Given the description of an element on the screen output the (x, y) to click on. 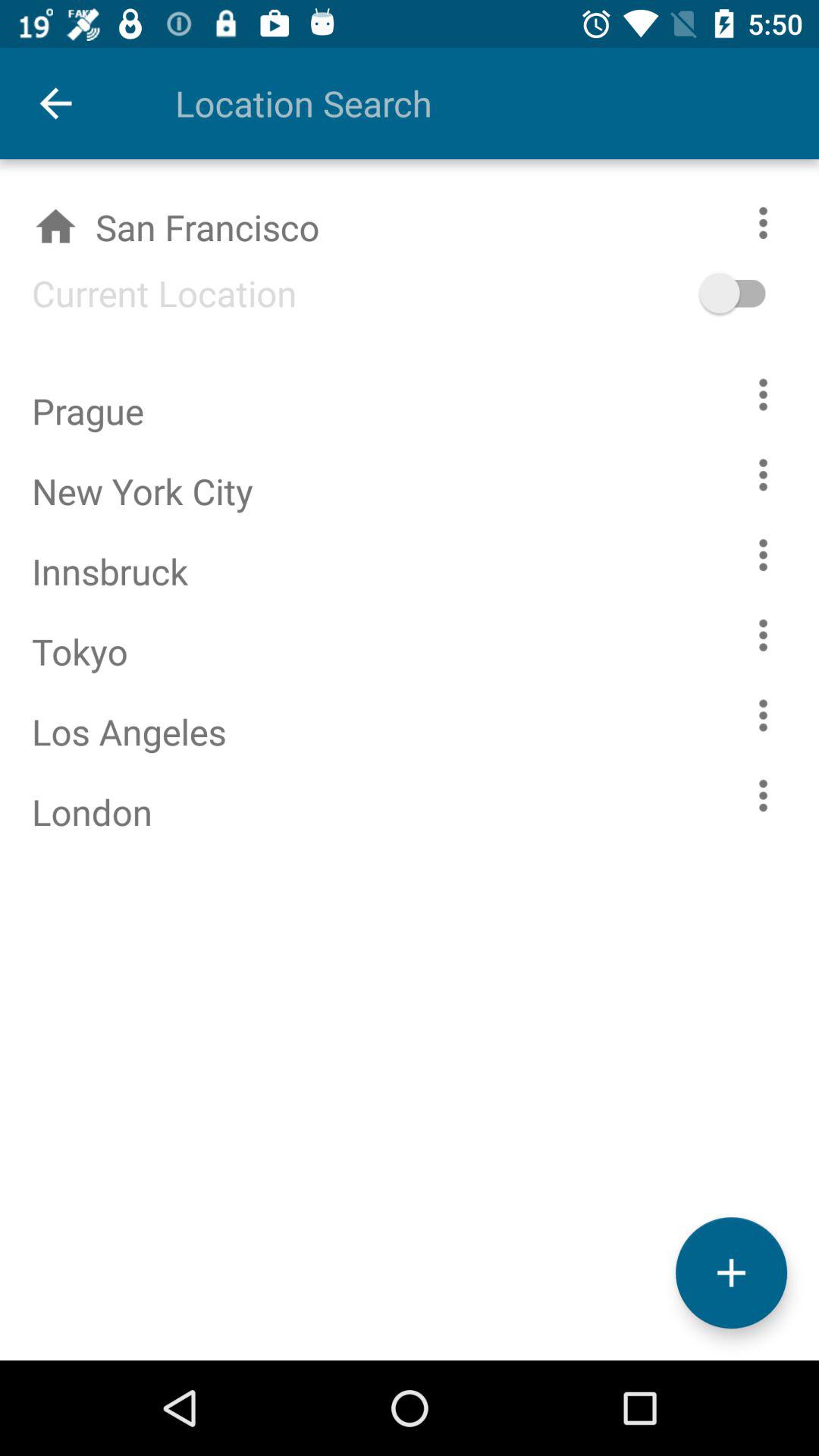
options (763, 474)
